Given the description of an element on the screen output the (x, y) to click on. 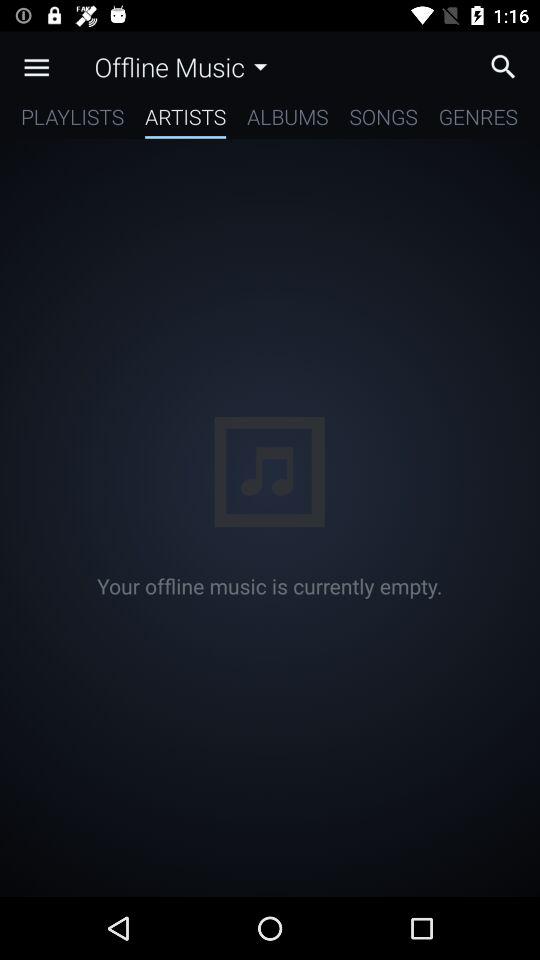
tap artists item (185, 120)
